Given the description of an element on the screen output the (x, y) to click on. 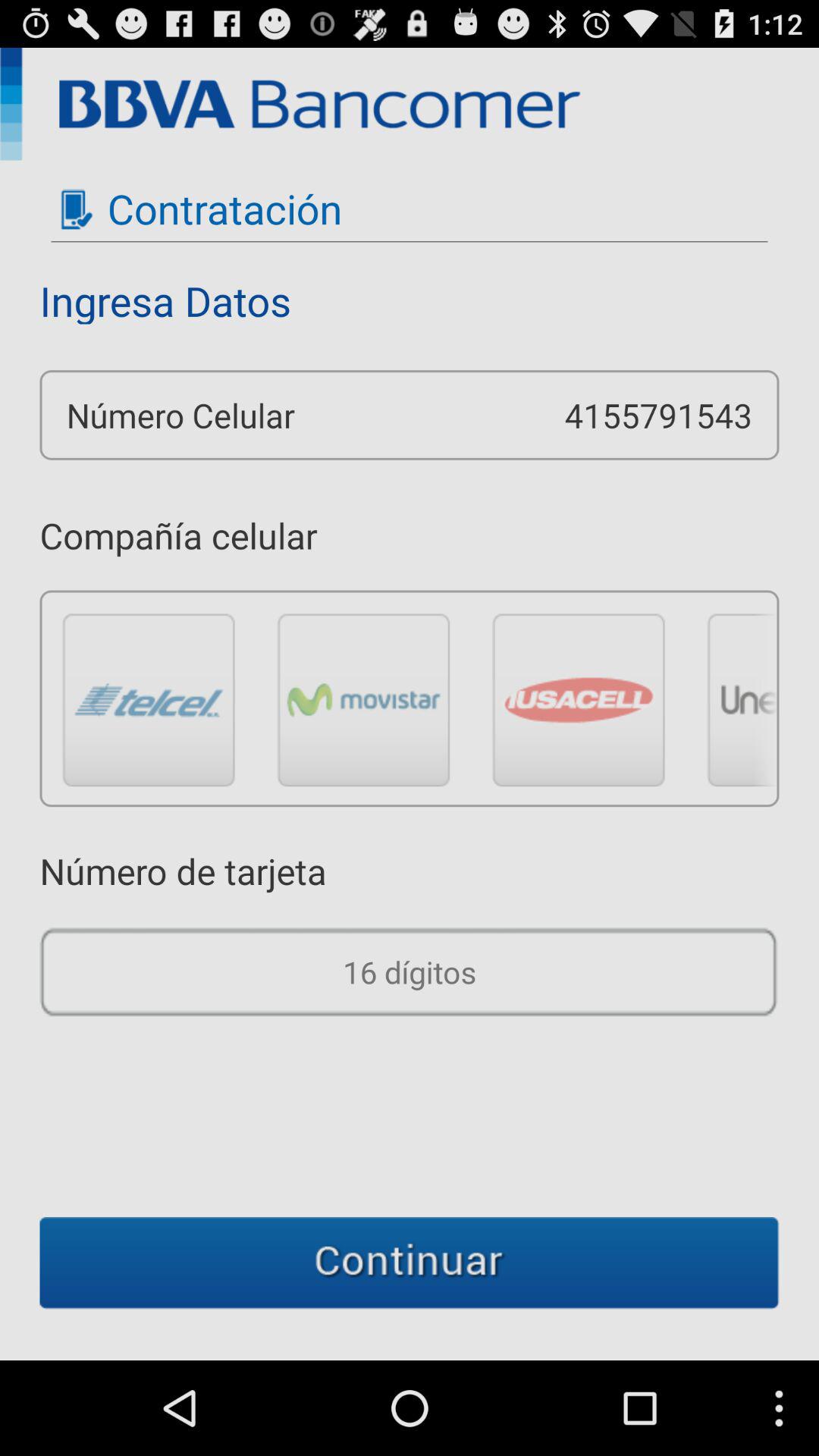
enter card number (409, 971)
